Given the description of an element on the screen output the (x, y) to click on. 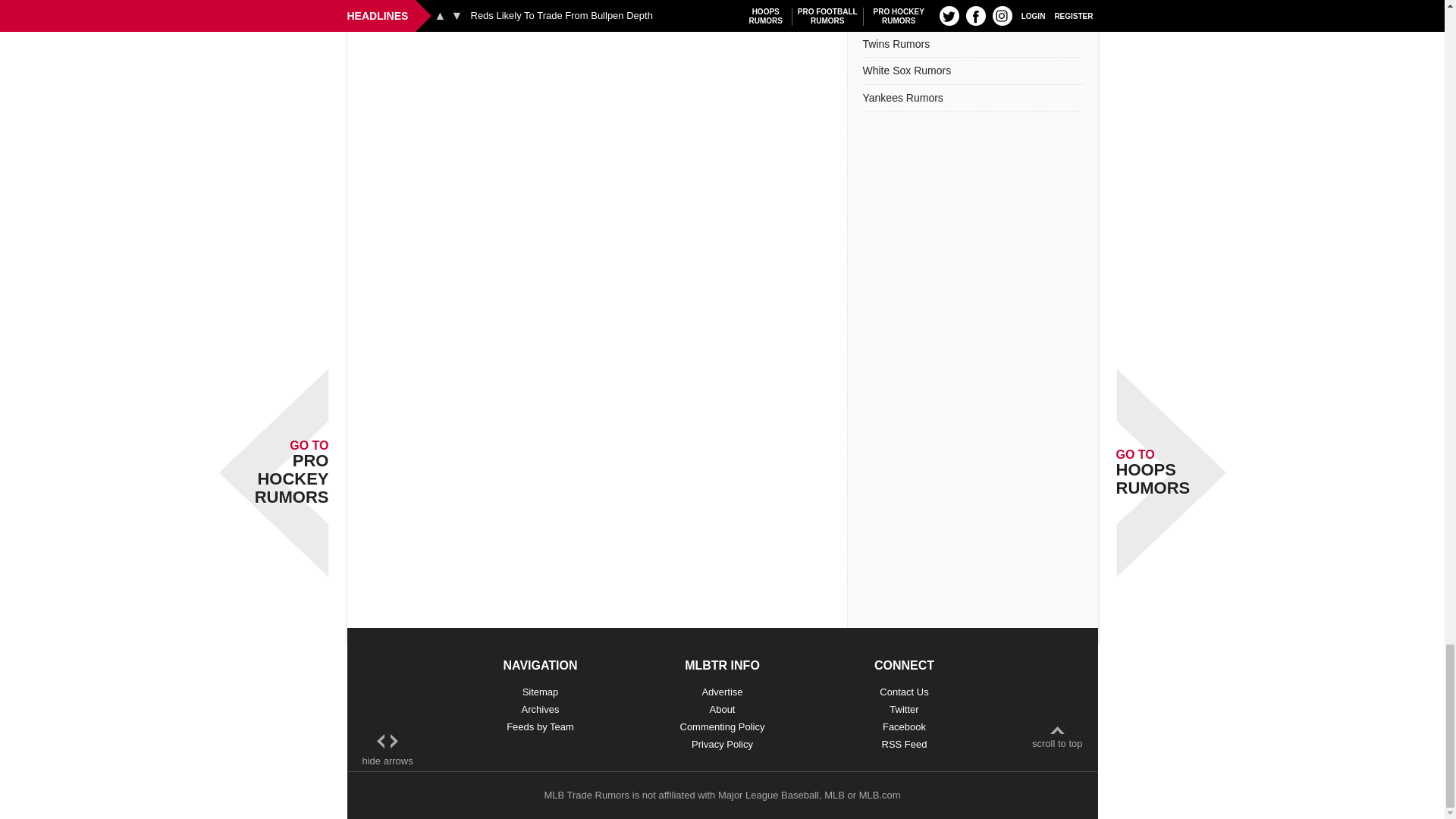
MLB Trade Rumors (585, 794)
